Given the description of an element on the screen output the (x, y) to click on. 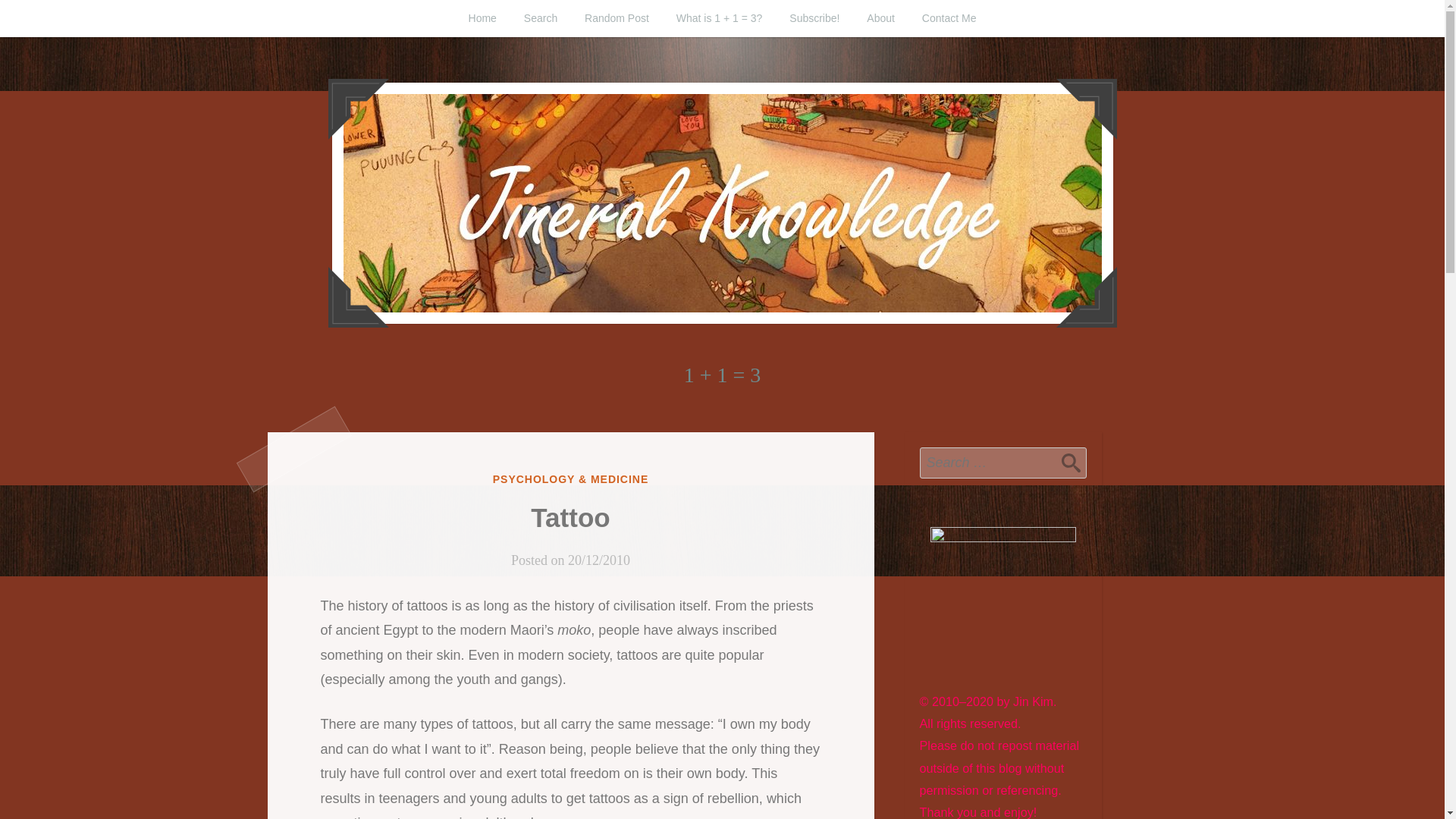
Search (1070, 462)
Contact Me (949, 18)
Search (1070, 462)
Home (482, 18)
Search (540, 18)
About (880, 18)
Subscribe! (814, 18)
Random Post (616, 18)
Search (1070, 462)
